Given the description of an element on the screen output the (x, y) to click on. 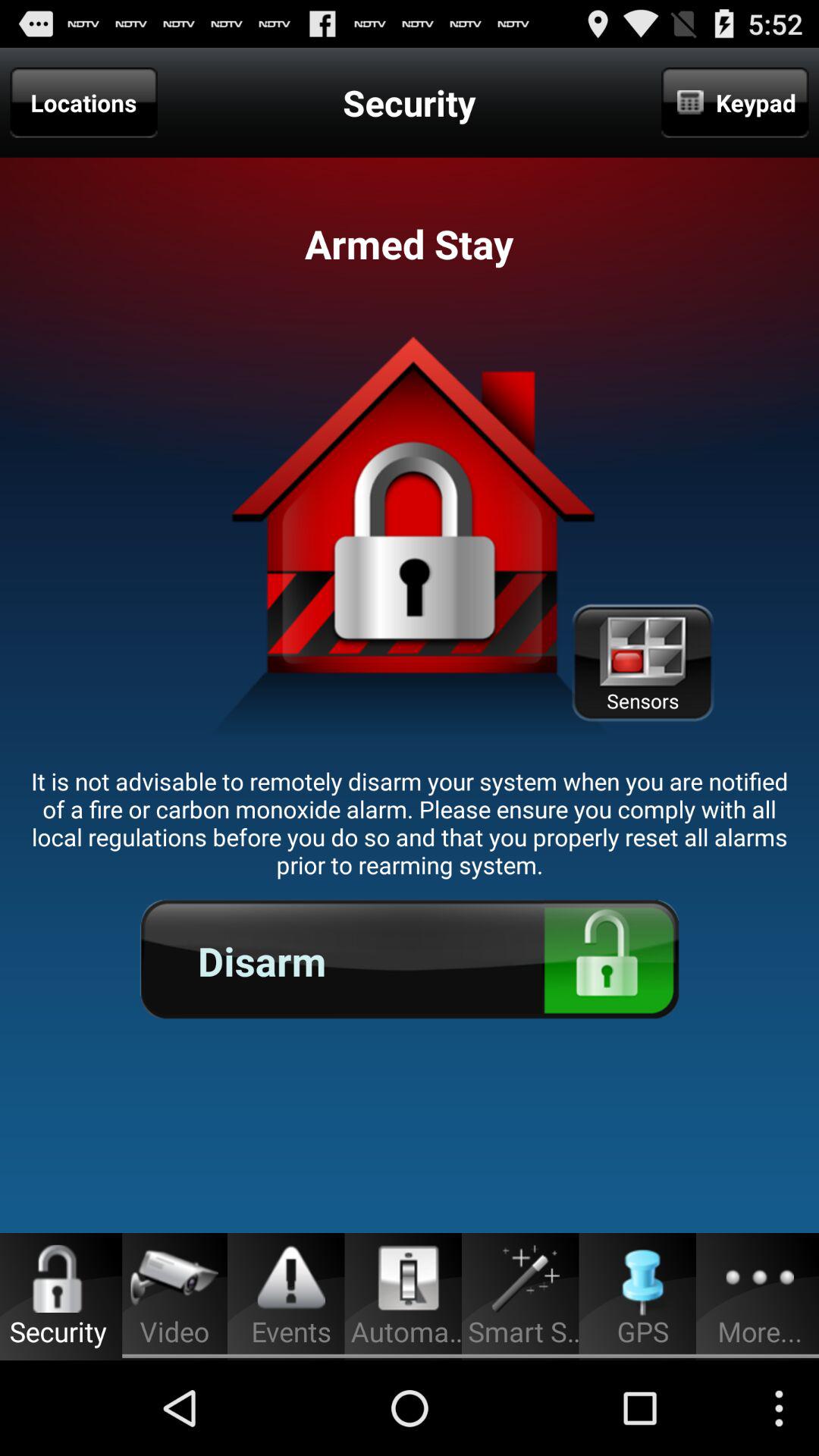
open the app above the it is not icon (642, 662)
